Given the description of an element on the screen output the (x, y) to click on. 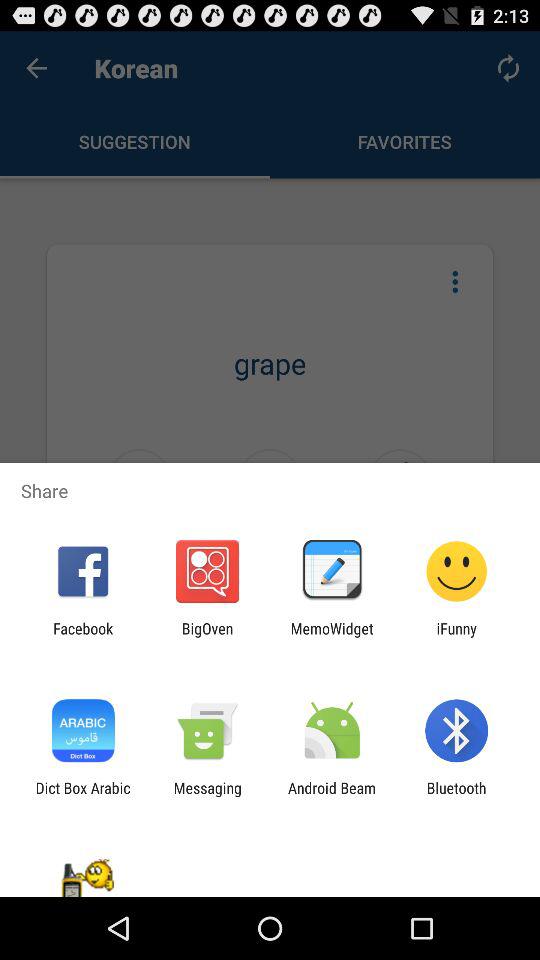
launch the app to the right of the memowidget icon (456, 637)
